Given the description of an element on the screen output the (x, y) to click on. 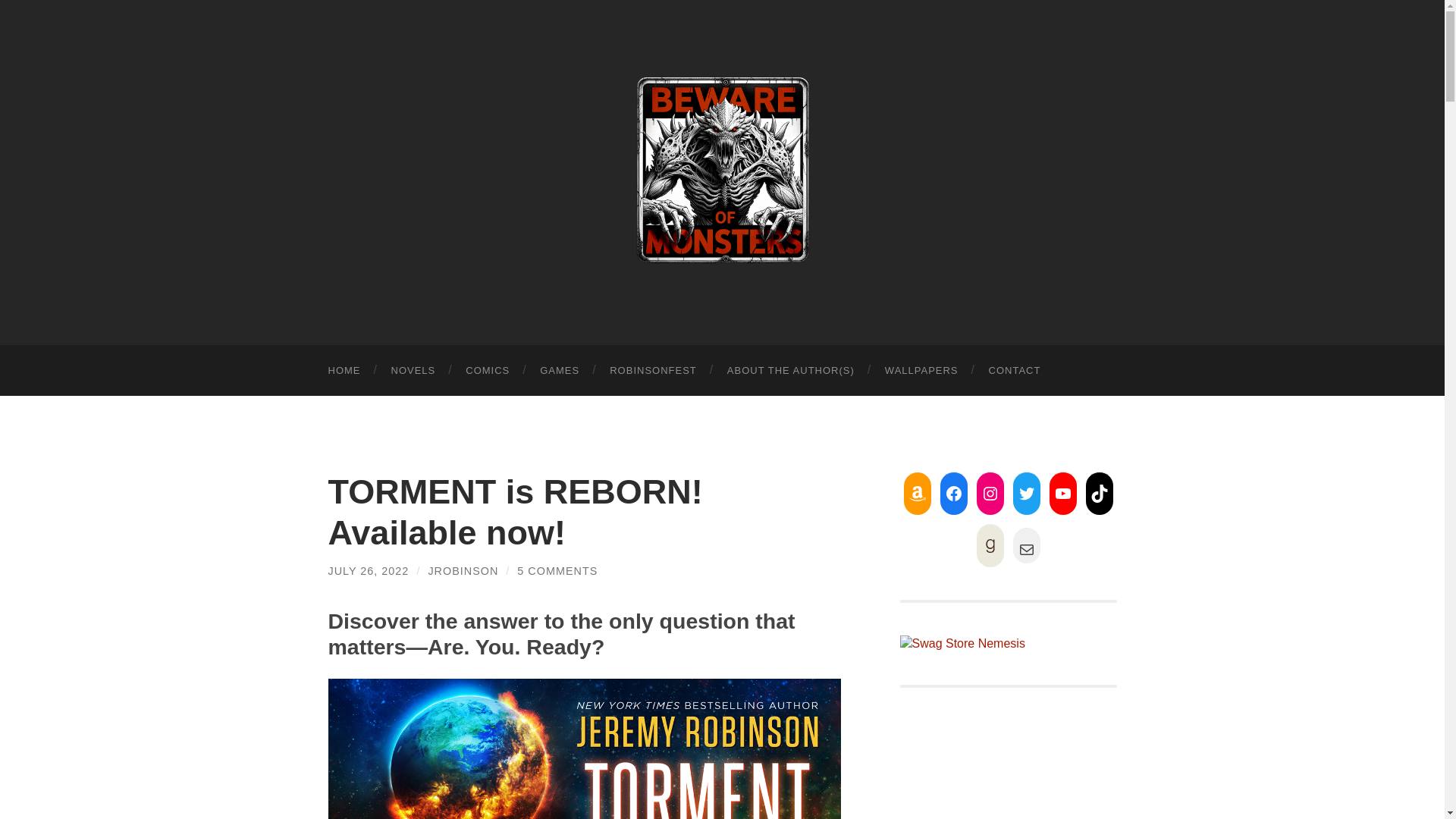
CONTACT (1015, 369)
COMICS (486, 369)
GAMES (559, 369)
HOME (344, 369)
WALLPAPERS (921, 369)
Posts by JRobinson (462, 571)
5 COMMENTS (556, 571)
NOVELS (413, 369)
Beware of Monsters (721, 170)
My Top Videos (1007, 769)
JULY 26, 2022 (368, 571)
JROBINSON (462, 571)
ROBINSONFEST (652, 369)
